Given the description of an element on the screen output the (x, y) to click on. 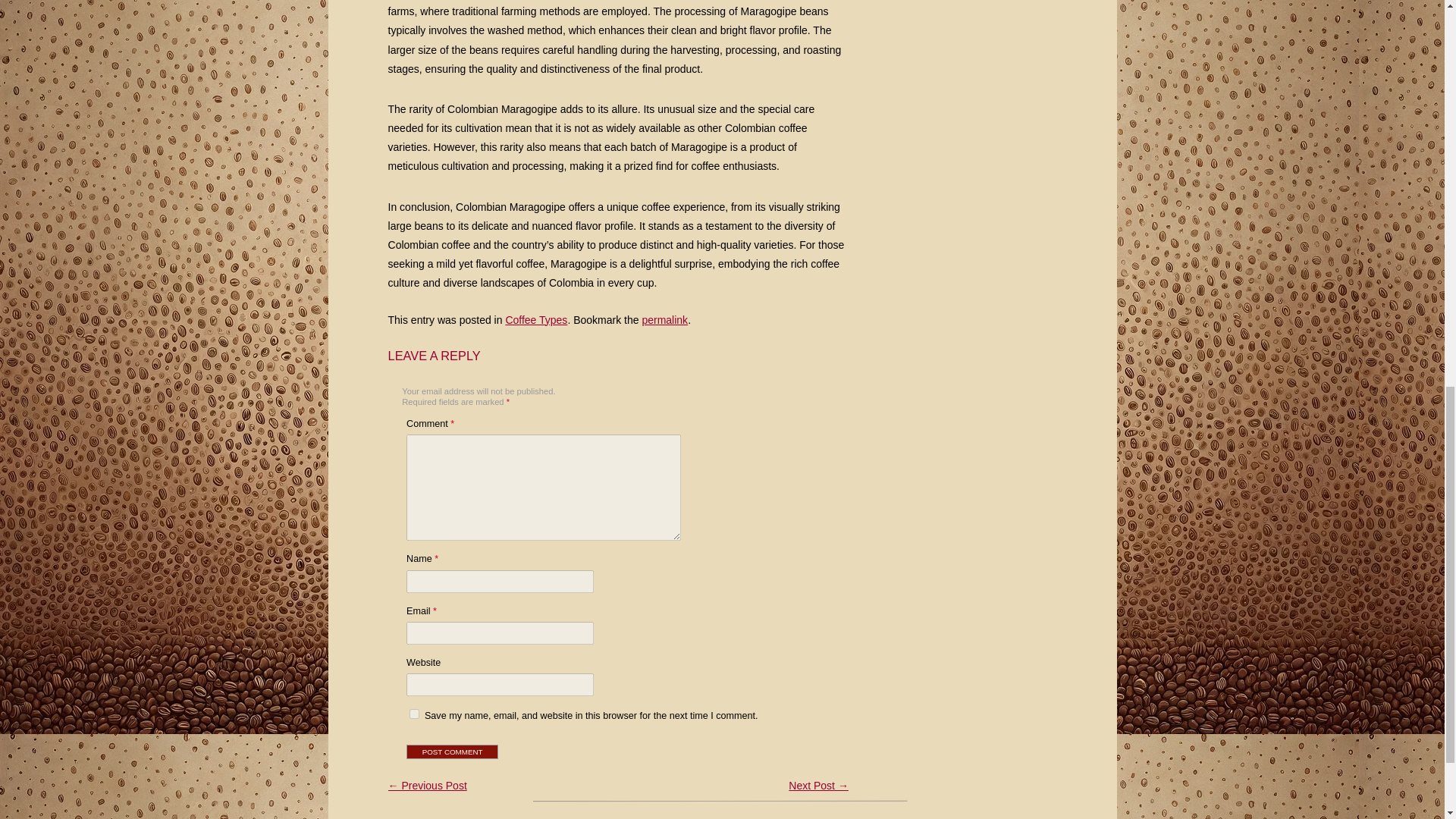
Post Comment (451, 751)
Post Comment (451, 751)
Coffee Types (536, 319)
yes (414, 714)
permalink (664, 319)
